Given the description of an element on the screen output the (x, y) to click on. 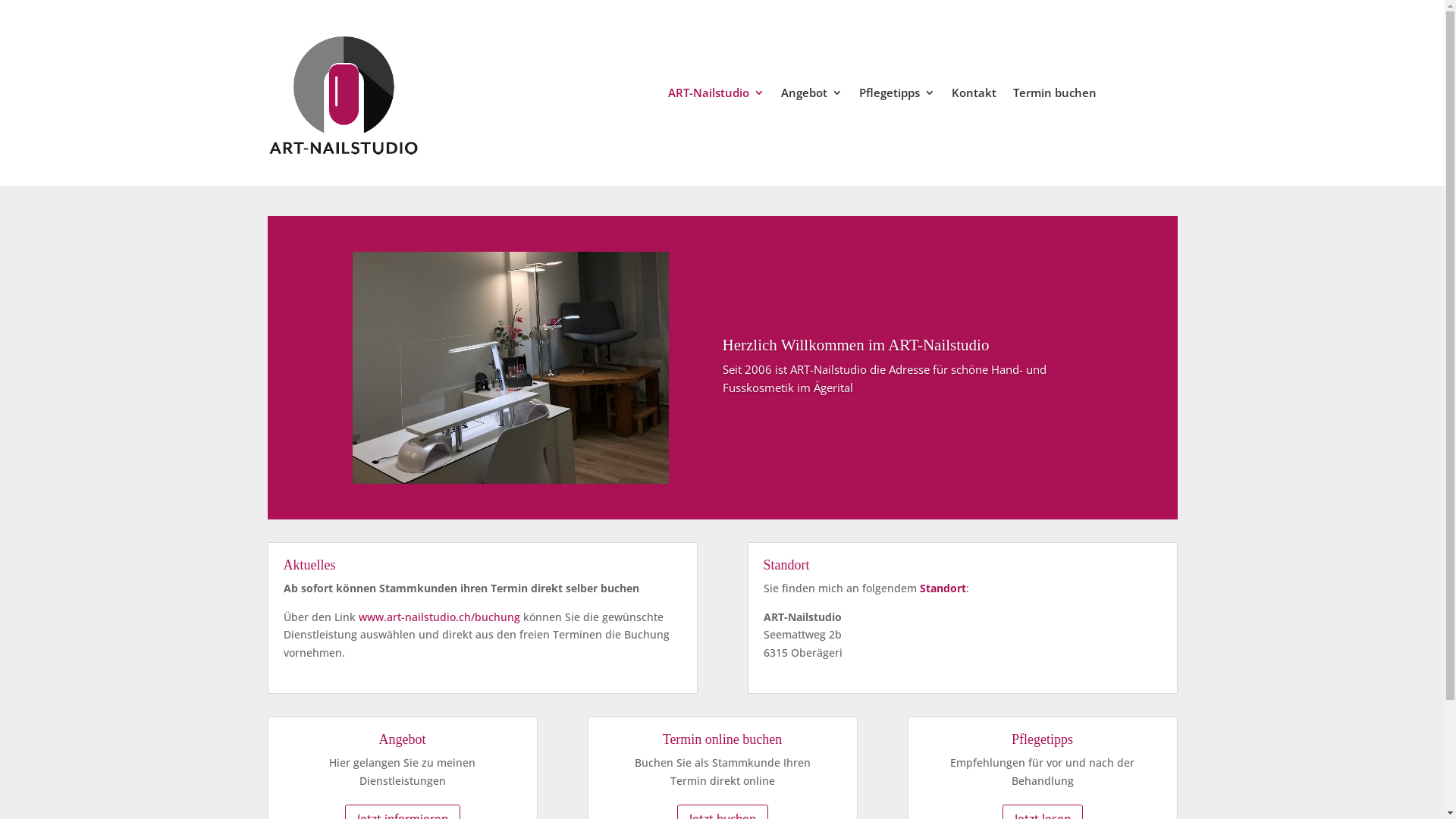
Angebot Element type: text (811, 95)
Pflegetipps Element type: text (897, 95)
Standort Element type: text (942, 587)
Termin buchen Element type: text (1054, 95)
www.art-nailstudio.ch/buchung Element type: text (438, 616)
Kontakt Element type: text (973, 95)
ART-Nailstudio Element type: text (716, 95)
